Given the description of an element on the screen output the (x, y) to click on. 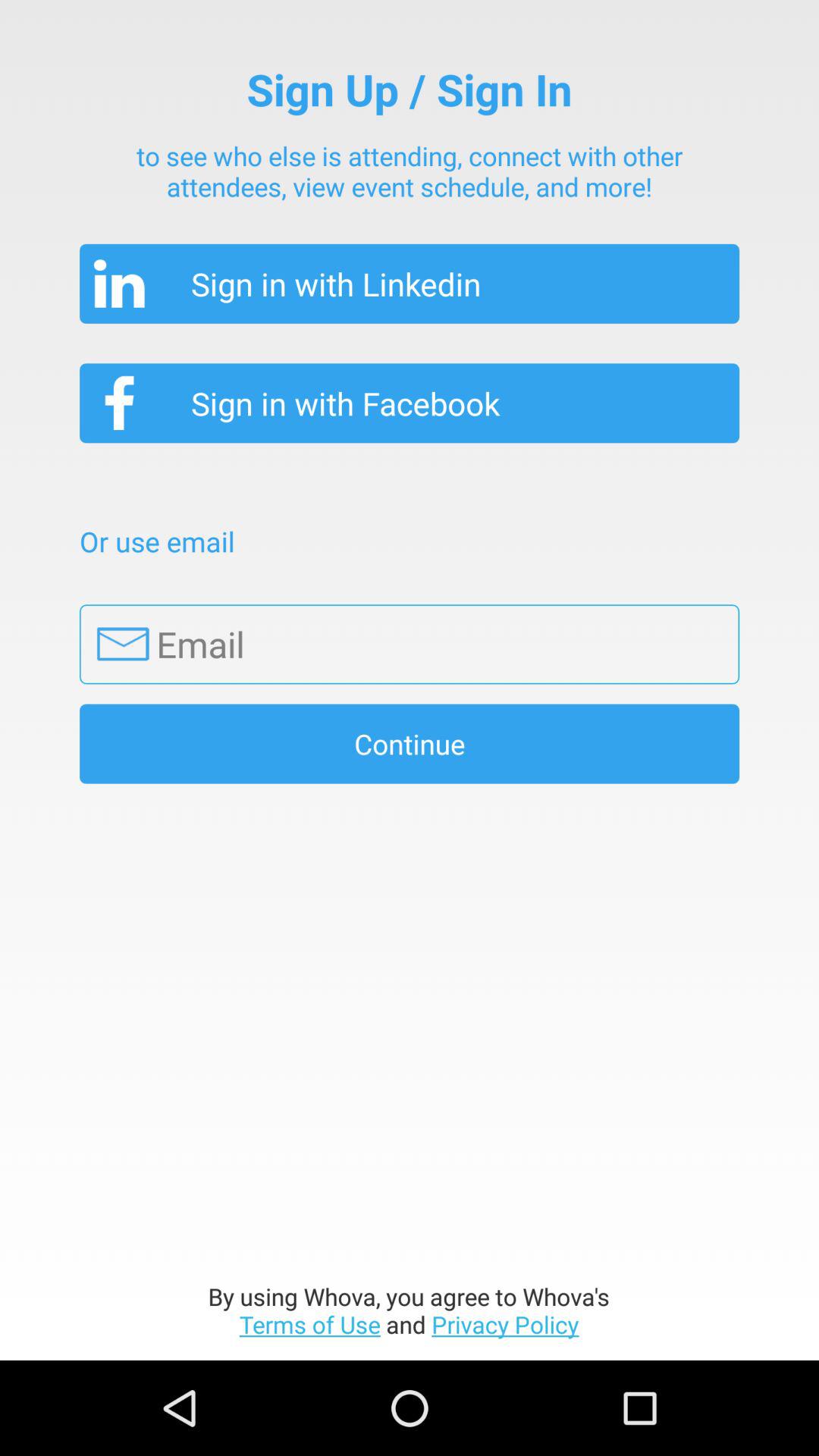
select email textbox (409, 644)
